Given the description of an element on the screen output the (x, y) to click on. 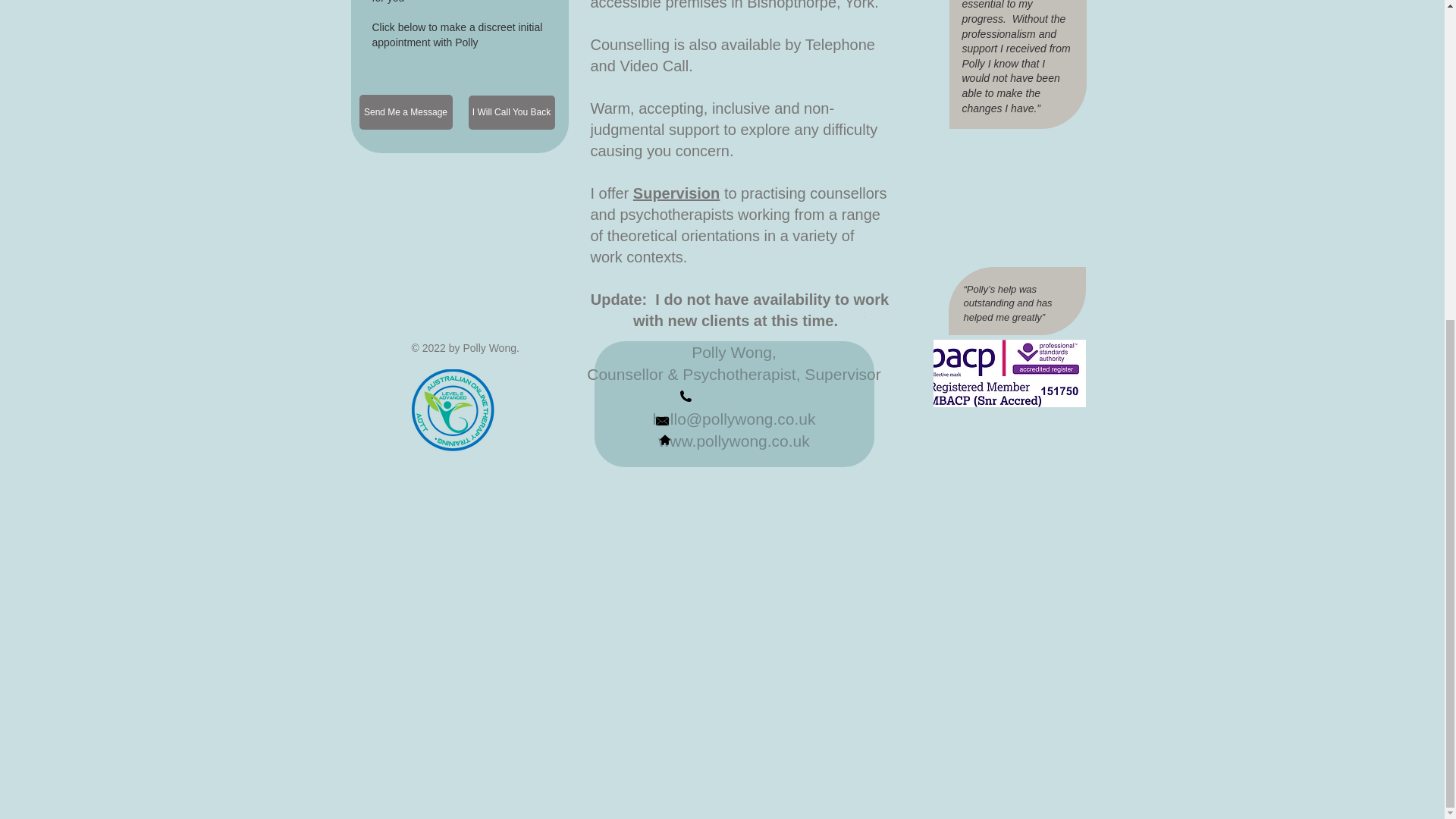
Supervision (676, 193)
www.pollywong.co.uk (733, 440)
Send Me a Message (405, 112)
I Will Call You Back (511, 112)
